Given the description of an element on the screen output the (x, y) to click on. 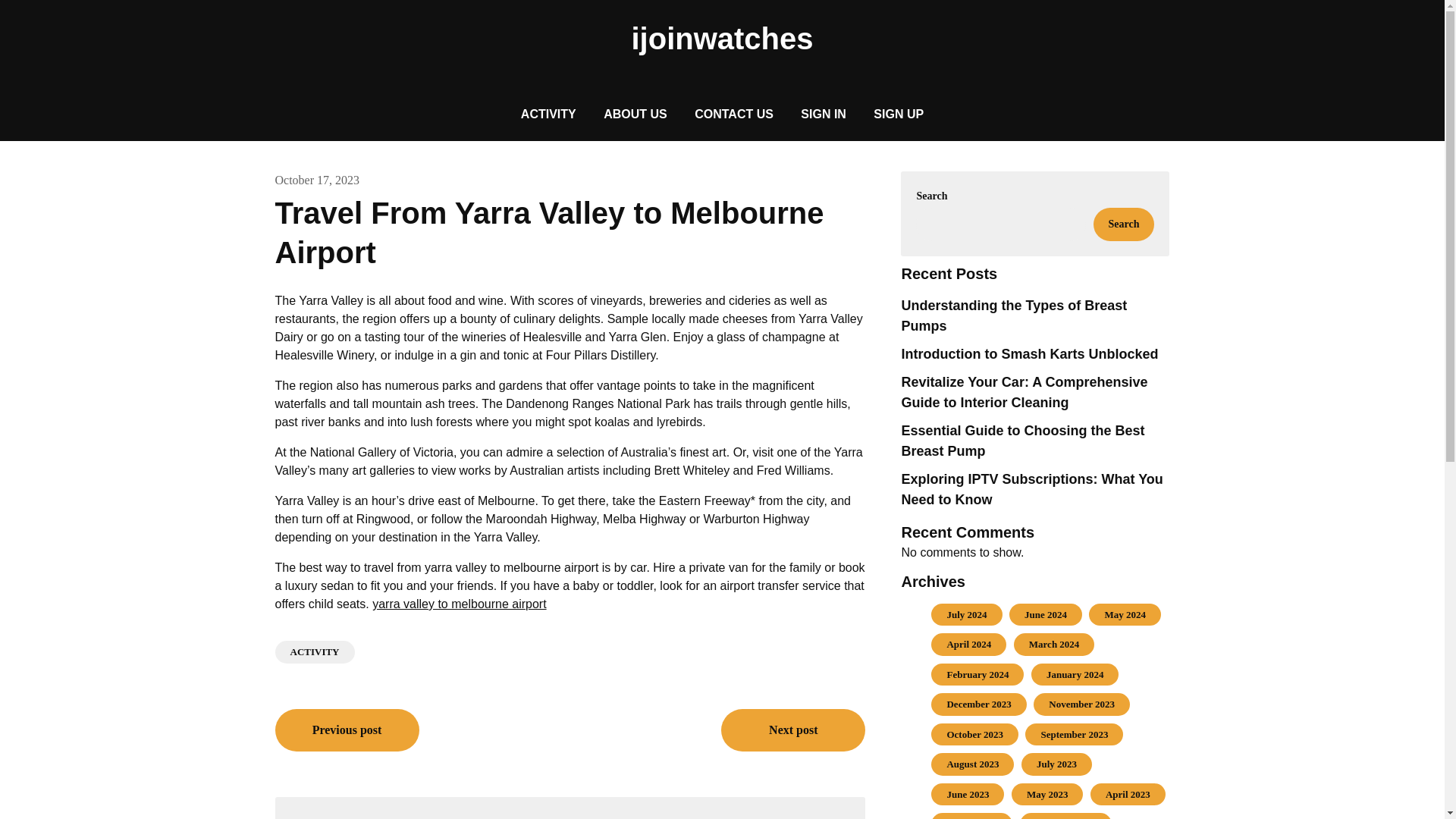
Exploring IPTV Subscriptions: What You Need to Know (1031, 488)
October 2023 (974, 734)
Essential Guide to Choosing the Best Breast Pump (1022, 440)
April 2023 (1127, 794)
May 2023 (1047, 794)
March 2024 (1054, 644)
June 2024 (1046, 614)
April 2024 (968, 644)
March 2023 (971, 818)
Previous post (347, 729)
CONTACT US (734, 114)
October 17, 2023 (317, 179)
December 2023 (978, 704)
Understanding the Types of Breast Pumps (1013, 315)
Search (1123, 224)
